Given the description of an element on the screen output the (x, y) to click on. 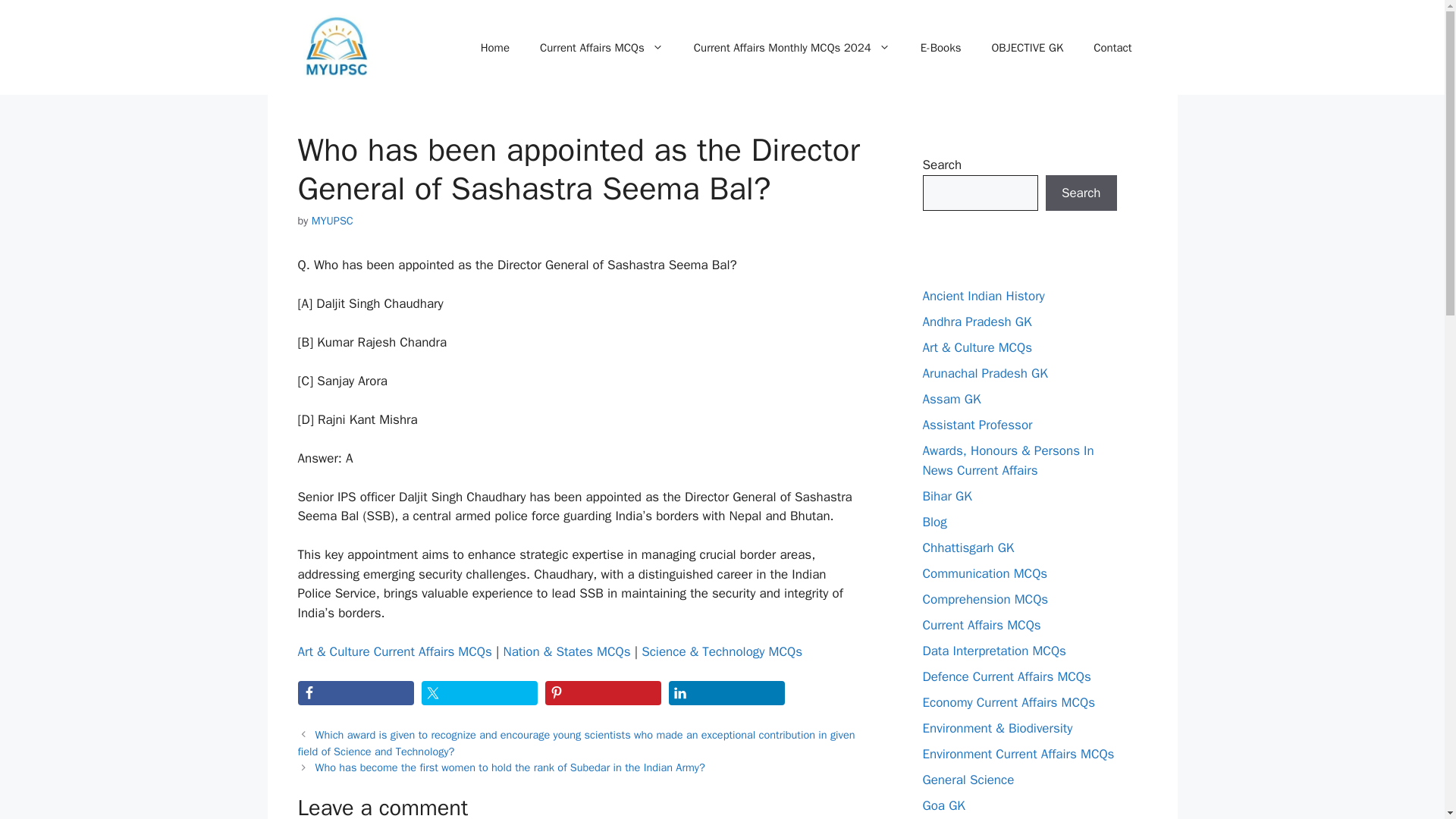
Current Affairs Monthly MCQs 2024 (791, 47)
Share on Facebook (355, 692)
Share on Twitter (479, 692)
E-Books (940, 47)
Contact (1112, 47)
View all posts by MYUPSC (332, 220)
OBJECTIVE GK (1026, 47)
Home (494, 47)
Share on Pinterest (602, 692)
Current Affairs MCQs (601, 47)
MYUPSC (332, 220)
Share on LinkedIn (726, 692)
